Given the description of an element on the screen output the (x, y) to click on. 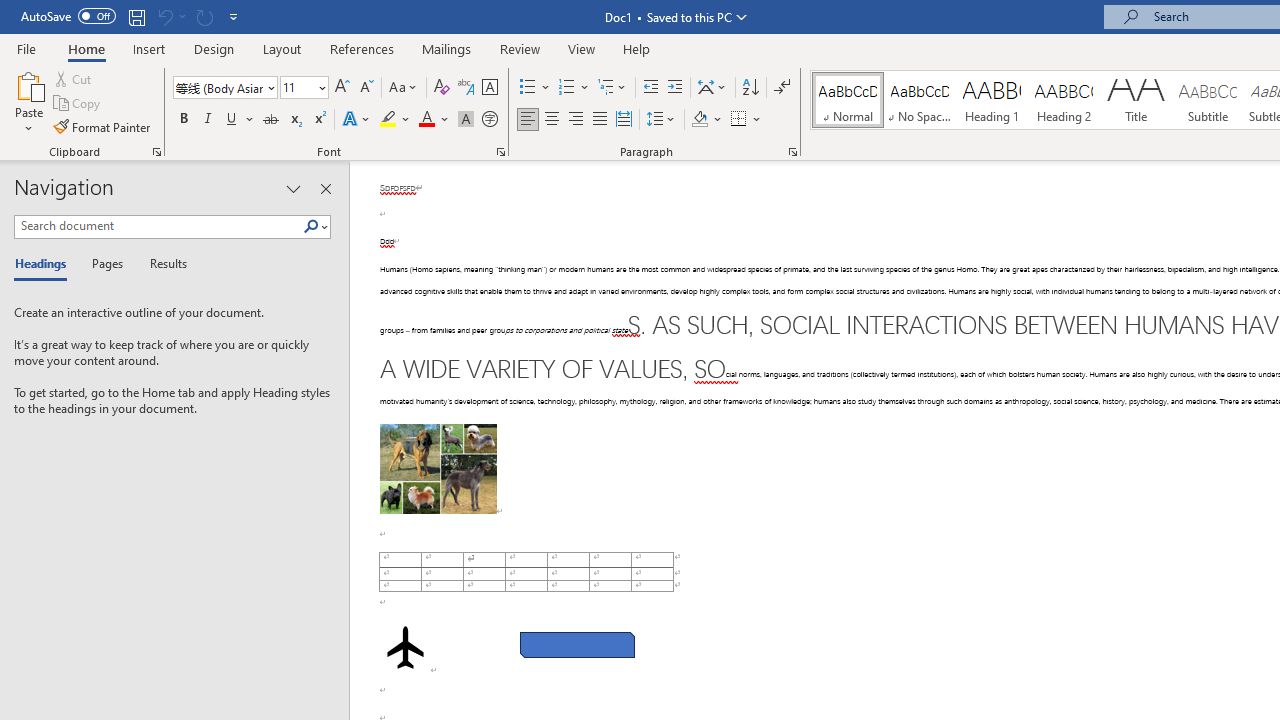
Font Color Red (426, 119)
Can't Undo (170, 15)
